Given the description of an element on the screen output the (x, y) to click on. 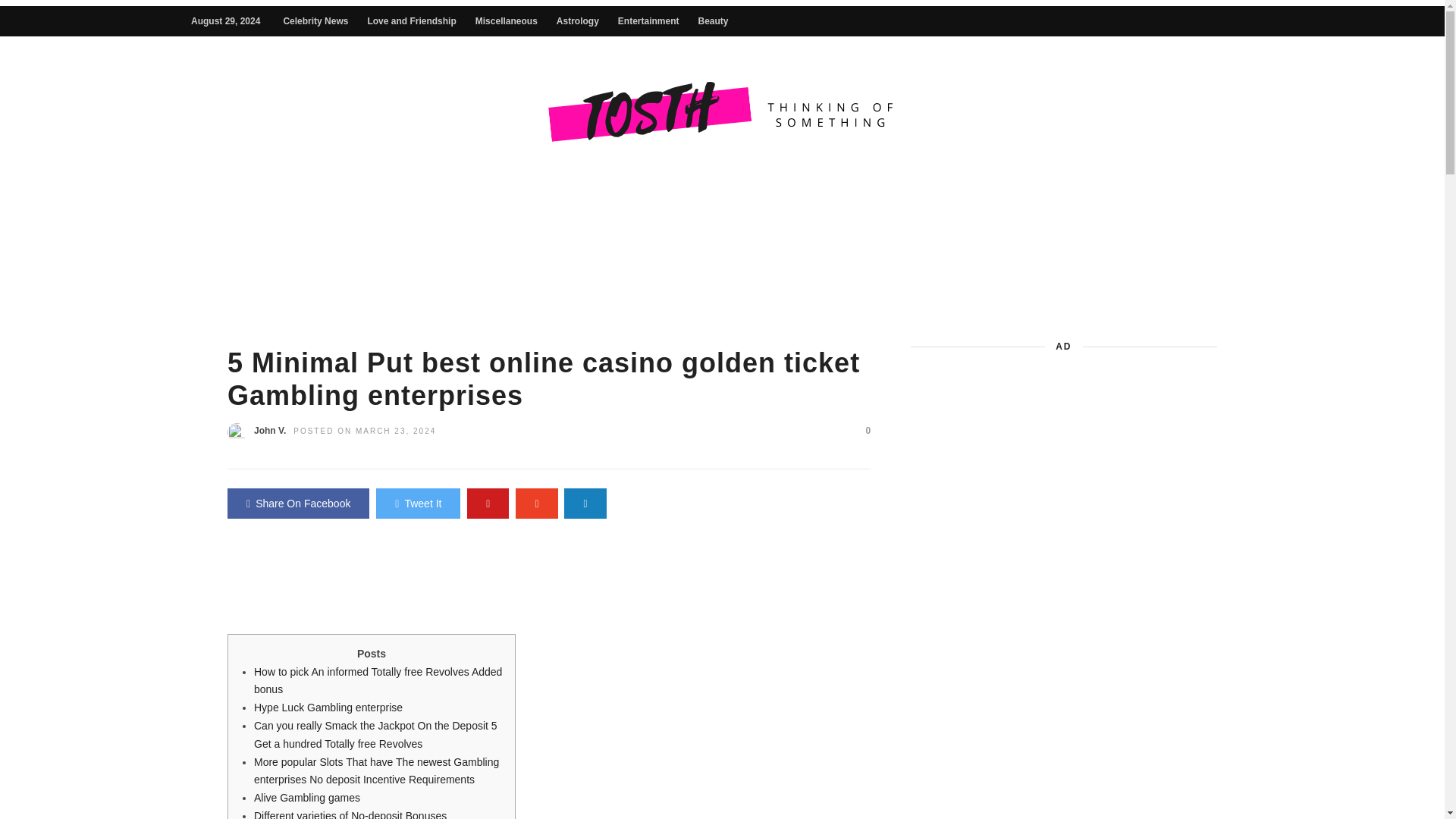
Share by Email (584, 503)
Share On Pinterest (487, 503)
Share On Twitter (417, 503)
Share On Facebook (298, 503)
Like this (860, 430)
